Given the description of an element on the screen output the (x, y) to click on. 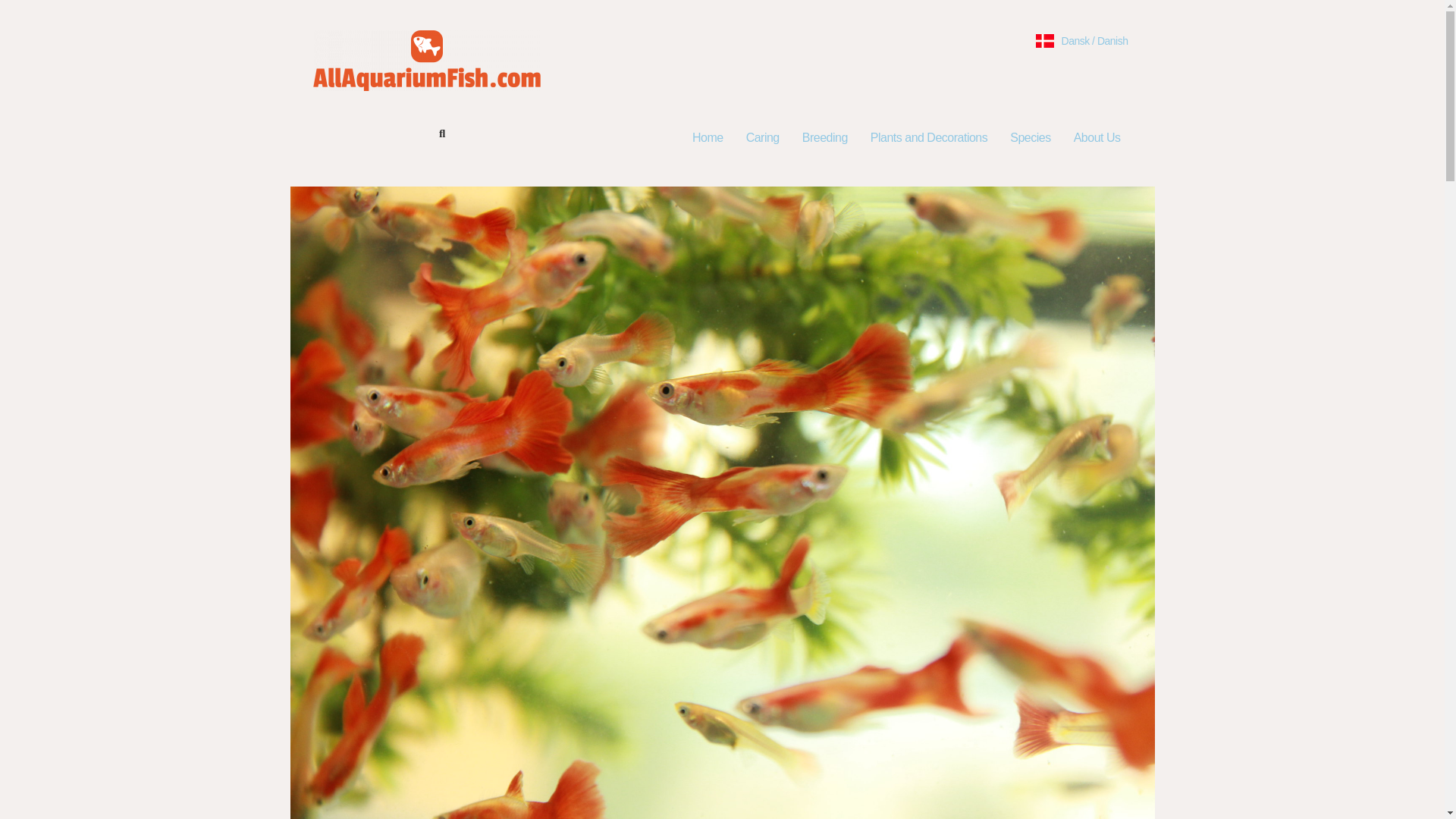
Home (708, 137)
About Us (1101, 137)
Species (1029, 137)
Caring (762, 137)
Plants and Decorations (928, 137)
Breeding (824, 137)
